Given the description of an element on the screen output the (x, y) to click on. 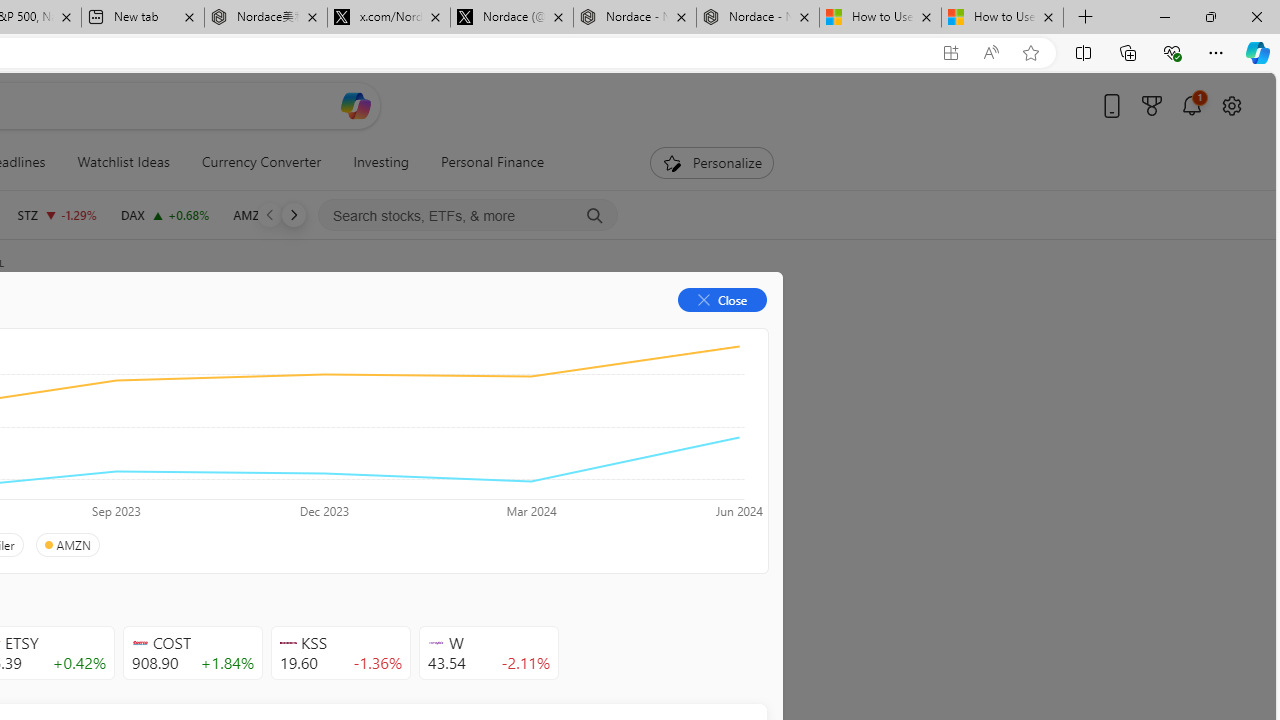
Nordace (@NordaceOfficial) / X (511, 17)
Personal Finance (493, 162)
Investing (381, 162)
AMZN (66, 545)
x.com/NordaceOfficial (388, 17)
App available. Install Start Money (950, 53)
Class: text-DS-EntryPoint1-3 (281, 446)
AMZN AMAZON.COM, INC. decrease 173.12 -2.38 -1.36% (280, 214)
Analysis (305, 331)
Watchlist Ideas (123, 162)
